Given the description of an element on the screen output the (x, y) to click on. 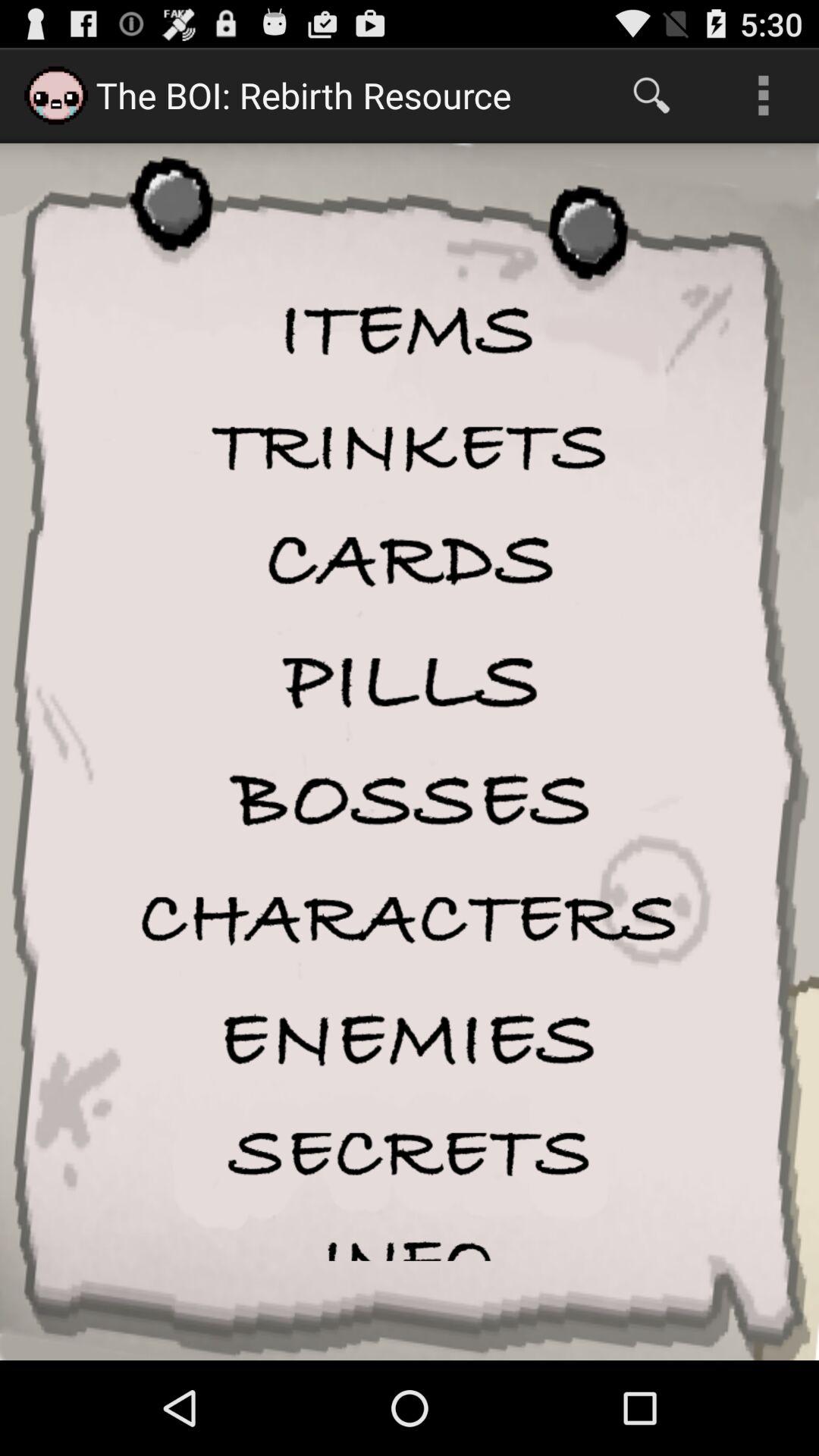
characters button (409, 919)
